Given the description of an element on the screen output the (x, y) to click on. 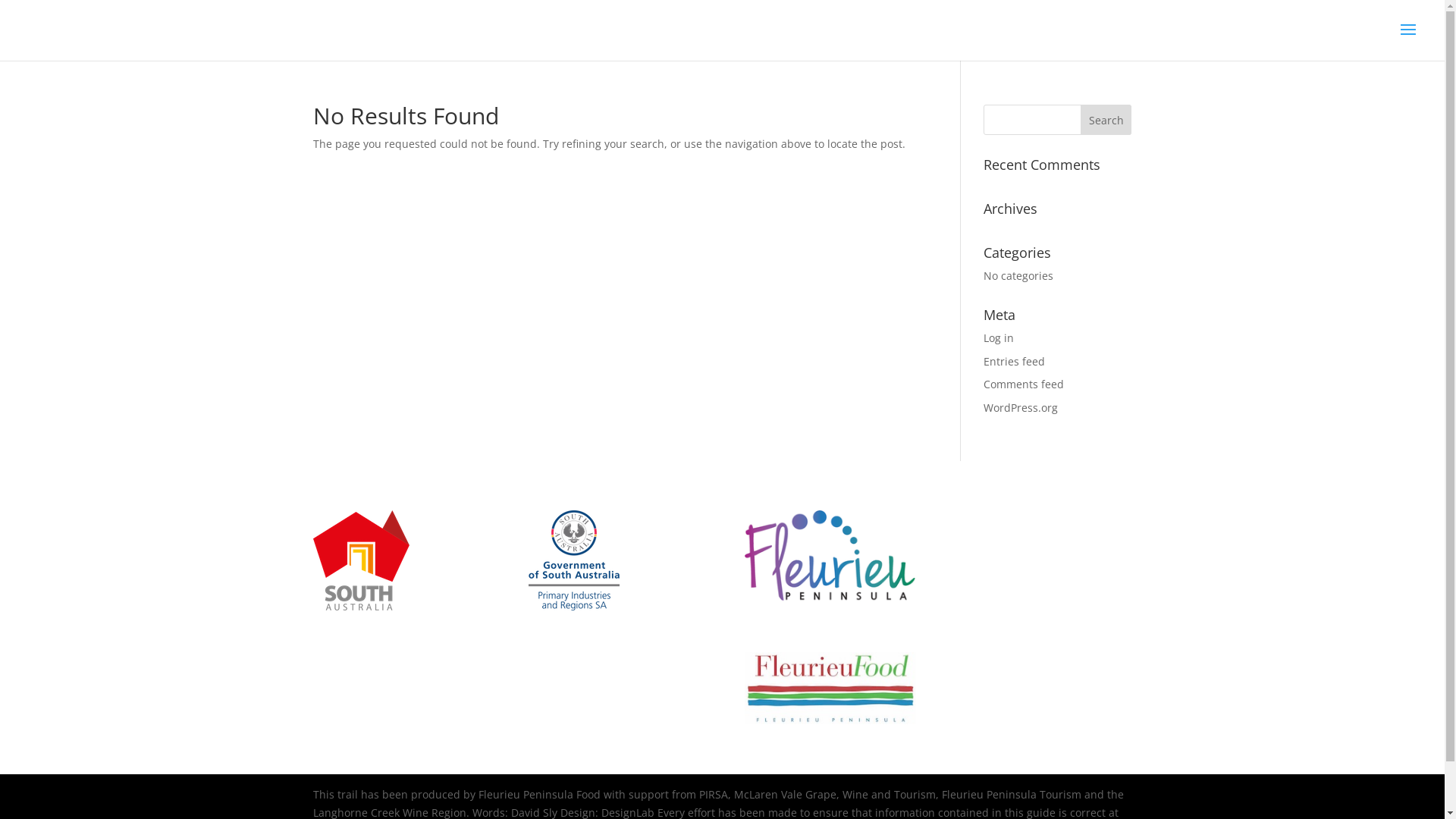
Log in Element type: text (998, 337)
WordPress.org Element type: text (1020, 407)
Search Element type: text (1106, 119)
Entries feed Element type: text (1013, 361)
Comments feed Element type: text (1023, 383)
